Given the description of an element on the screen output the (x, y) to click on. 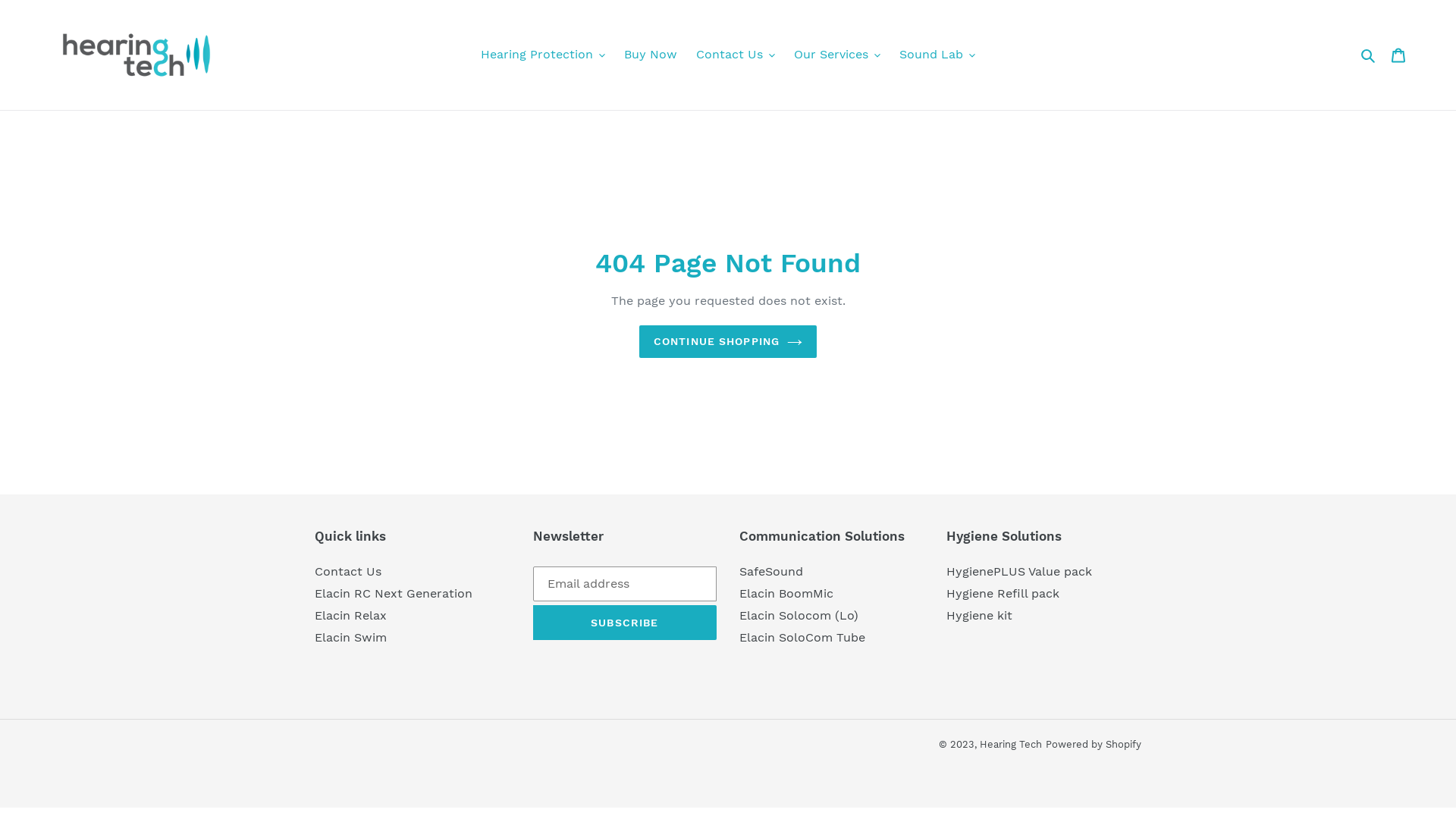
Hearing Protection Element type: text (542, 54)
HygienePLUS Value pack Element type: text (1019, 571)
Search Element type: text (1368, 54)
Contact Us Element type: text (347, 571)
Sound Lab Element type: text (936, 54)
Elacin SoloCom Tube Element type: text (802, 637)
Elacin BoomMic Element type: text (786, 593)
SUBSCRIBE Element type: text (624, 622)
Our Services Element type: text (837, 54)
Contact Us Element type: text (735, 54)
Buy Now Element type: text (650, 54)
Hygiene kit Element type: text (979, 615)
SafeSound Element type: text (771, 571)
Hygiene Refill pack Element type: text (1002, 593)
Powered by Shopify Element type: text (1093, 743)
Cart Element type: text (1398, 54)
Hearing Tech Element type: text (1010, 743)
CONTINUE SHOPPING Element type: text (727, 341)
Elacin Relax Element type: text (350, 615)
Elacin Swim Element type: text (350, 637)
Elacin RC Next Generation Element type: text (393, 593)
Elacin Solocom (Lo) Element type: text (798, 615)
